Given the description of an element on the screen output the (x, y) to click on. 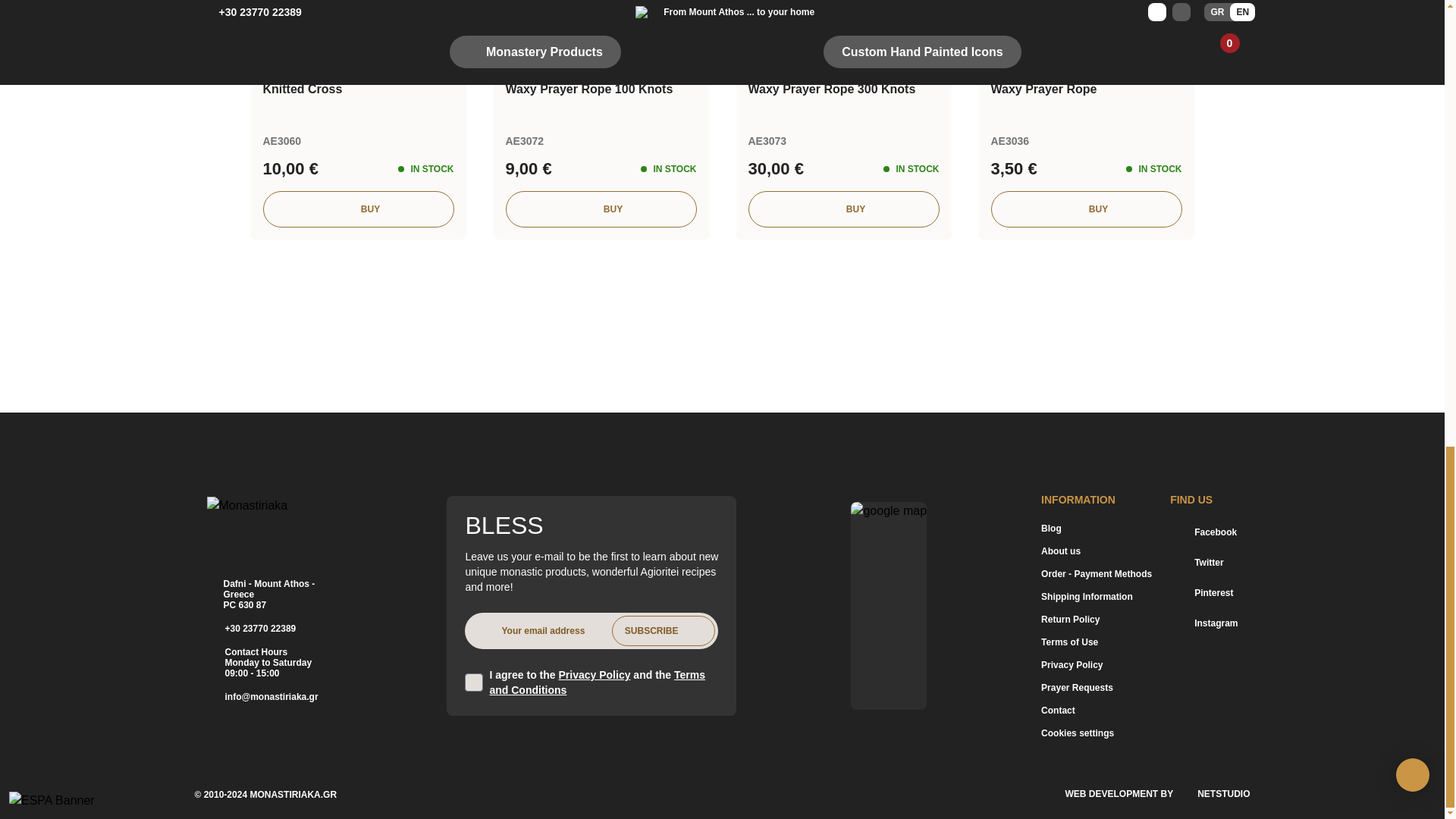
on (473, 682)
BUY (843, 208)
Knitted Cross (357, 89)
Waxy Prayer Rope 100 Knots (600, 89)
BUY (357, 208)
BUY (600, 208)
